Given the description of an element on the screen output the (x, y) to click on. 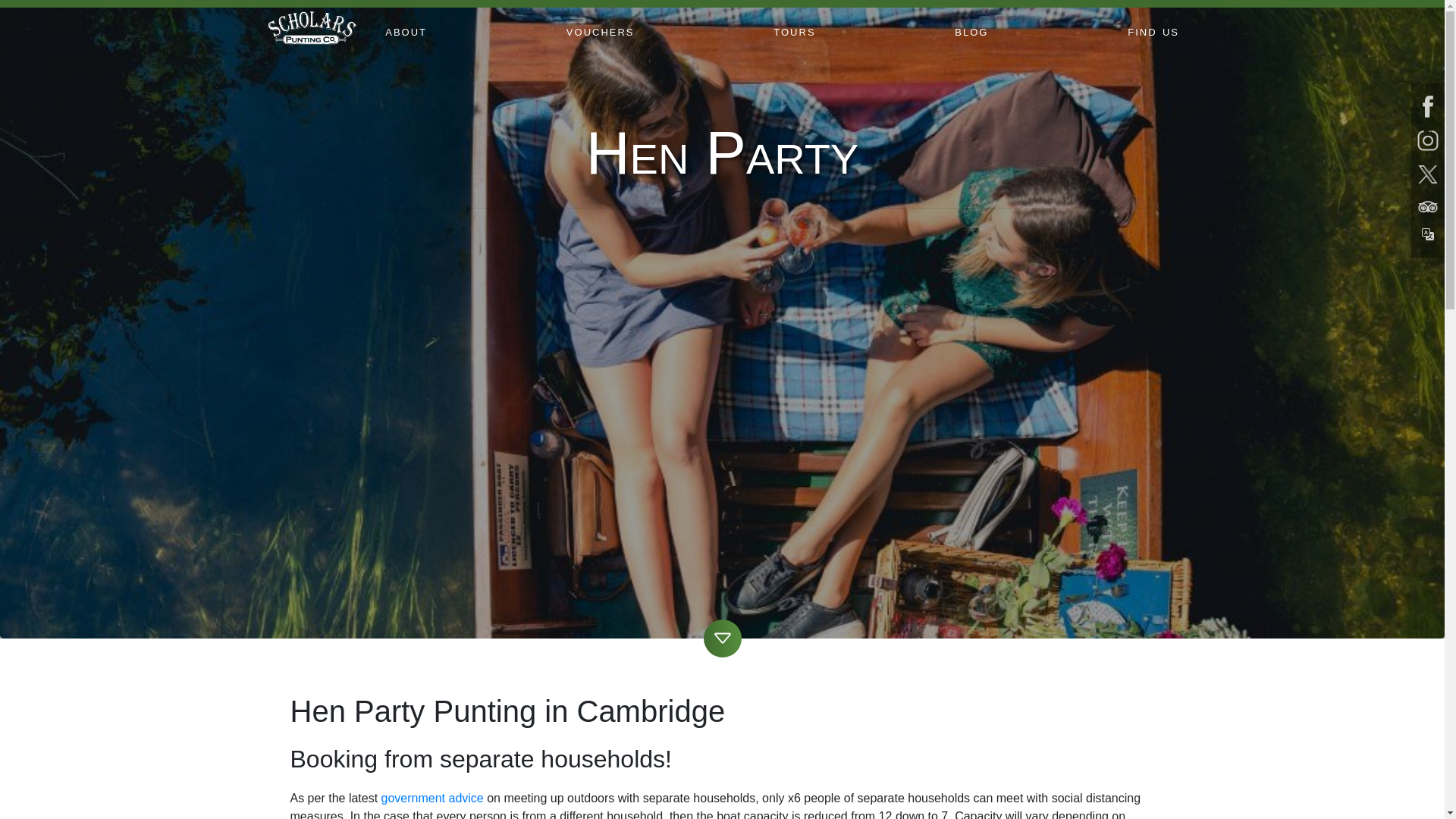
vouchers (600, 31)
government advice (432, 797)
blog (971, 31)
tours (794, 31)
about (405, 31)
find us (1153, 31)
